Given the description of an element on the screen output the (x, y) to click on. 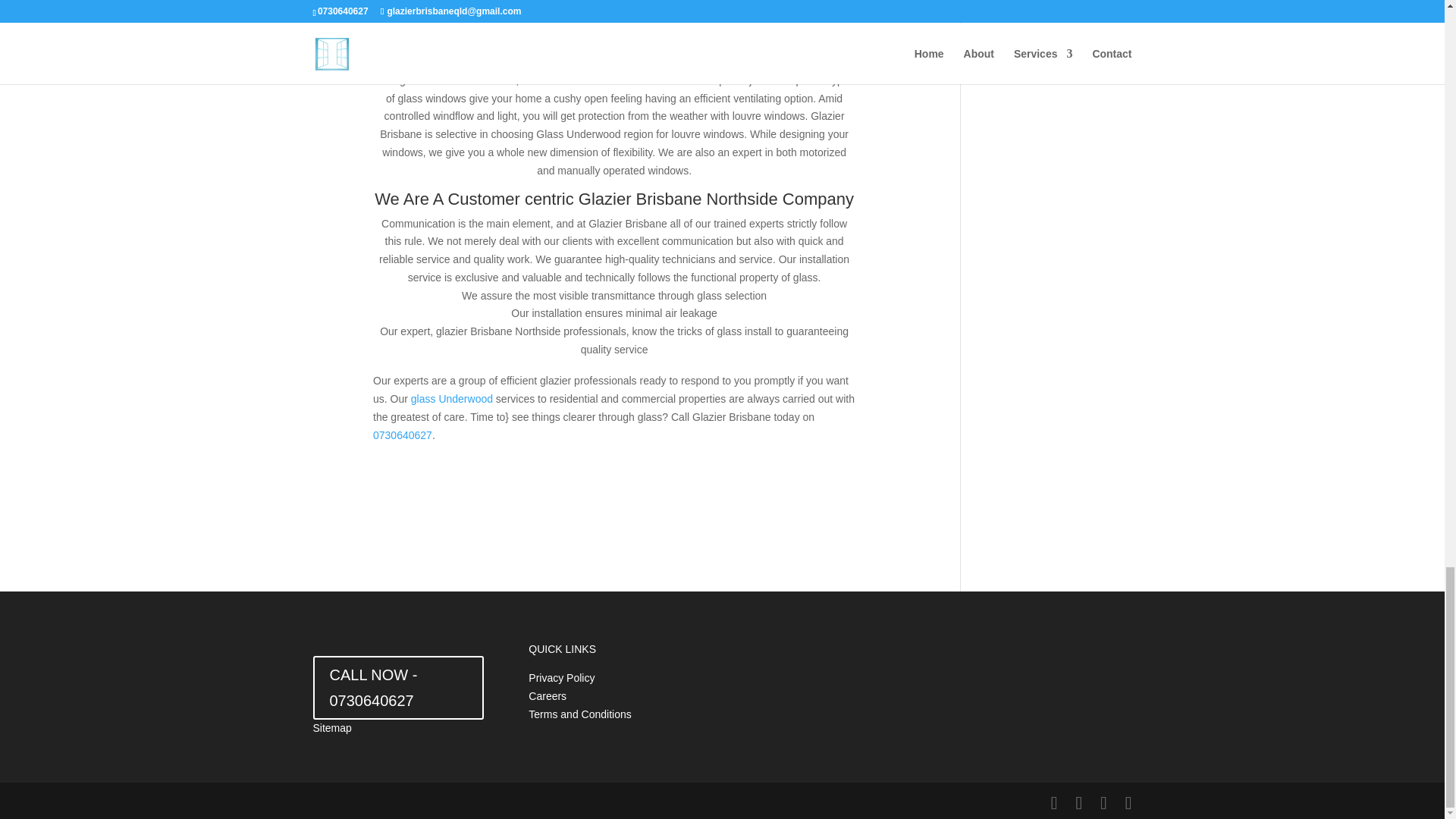
glass Underwood (451, 398)
Careers (547, 695)
Terms and Conditions (579, 714)
Privacy Policy (561, 677)
Sitemap (331, 727)
CALL NOW - 0730640627 (398, 687)
0730640627 (402, 435)
